Given the description of an element on the screen output the (x, y) to click on. 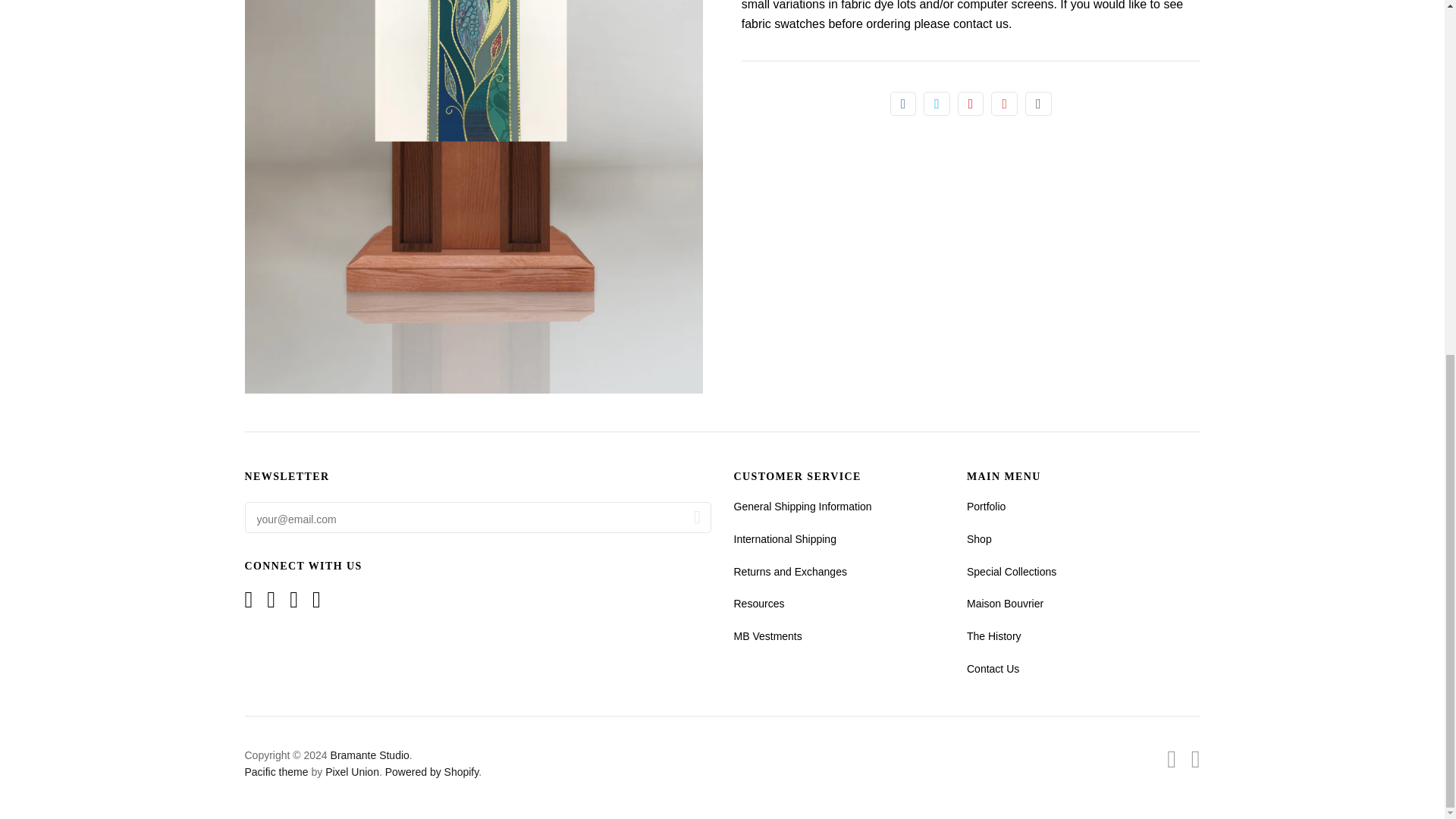
Email (1038, 103)
Tweet (936, 103)
Like (903, 103)
Pin it (971, 103)
